Given the description of an element on the screen output the (x, y) to click on. 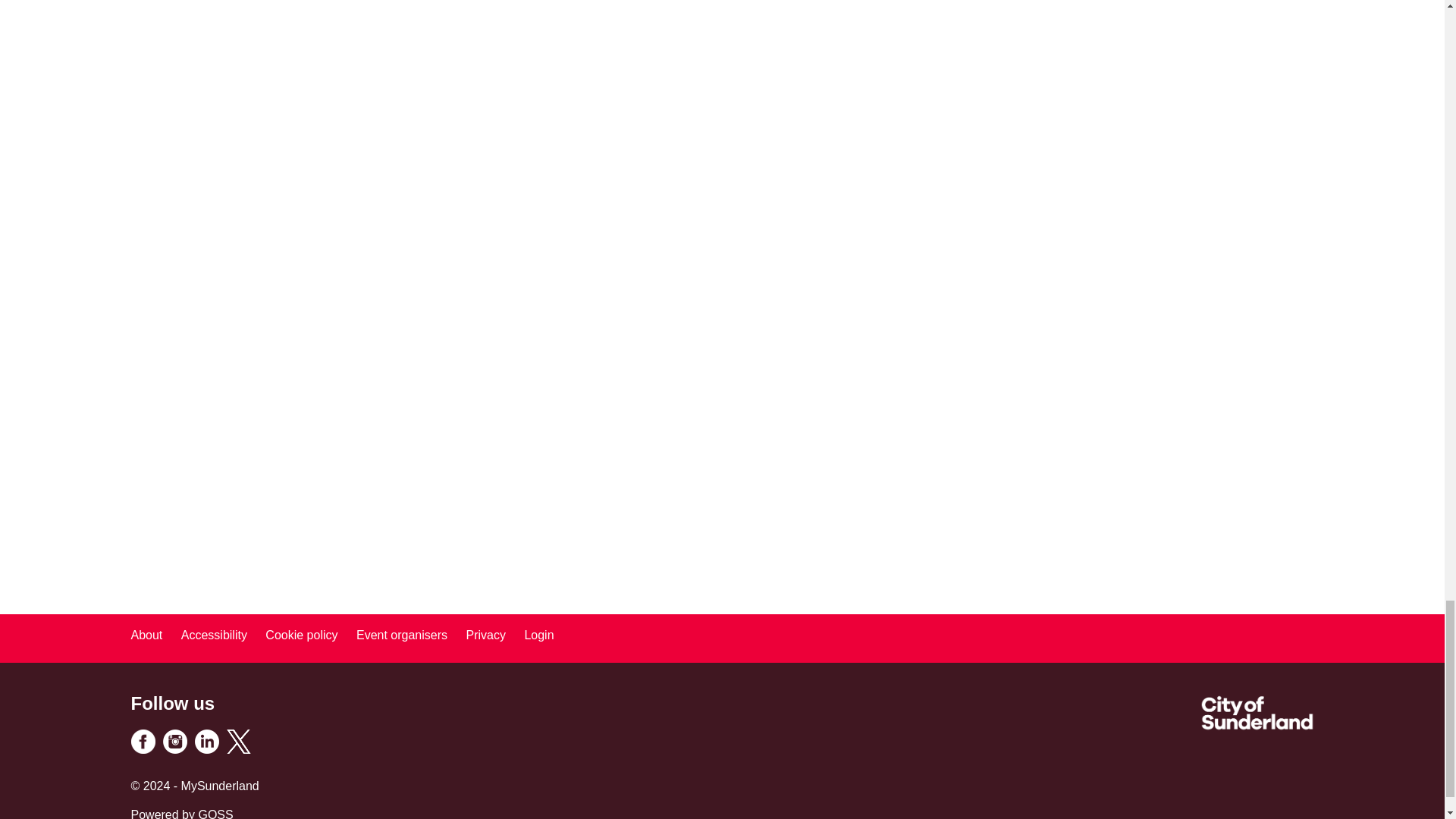
Visit Sunderland Facebook (142, 748)
Instagram Visit Sunderland (173, 748)
Linkedin invest in Sunderland (205, 748)
Twitter Invest Sunderland (237, 748)
